Given the description of an element on the screen output the (x, y) to click on. 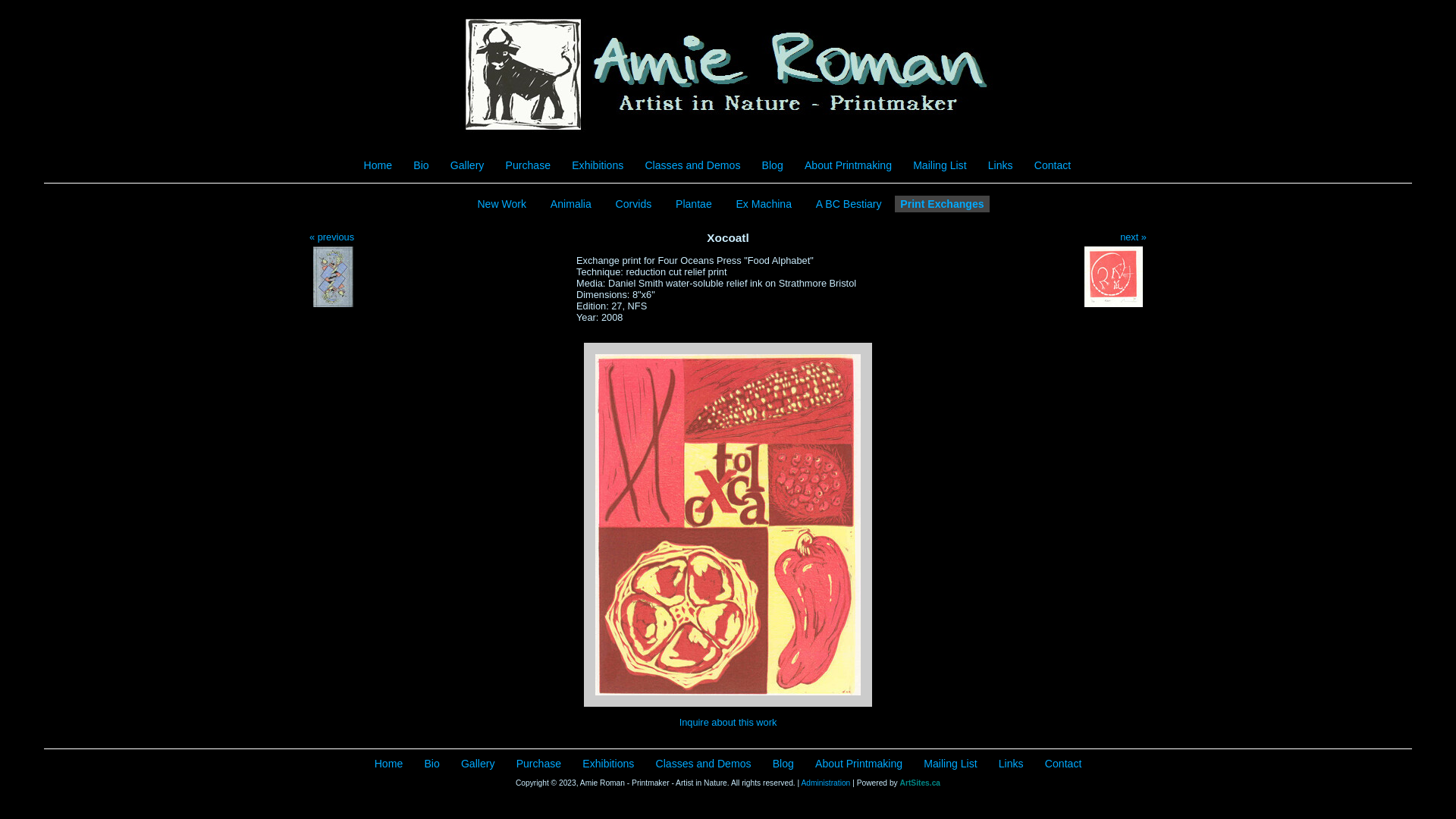
Print Exchanges Element type: text (941, 203)
Mailing List Element type: text (939, 165)
New Work Element type: text (501, 203)
About Printmaking Element type: text (847, 165)
Corvids Element type: text (633, 203)
Home Element type: text (388, 763)
Bio Element type: text (420, 165)
Gallery Element type: text (467, 165)
Contact Element type: text (1052, 165)
A BC Bestiary Element type: text (848, 203)
Mailing List Element type: text (949, 763)
Queen of... Element type: hover (333, 276)
Exhibitions Element type: text (597, 165)
Xocoatl Element type: hover (727, 524)
Blog Element type: text (782, 763)
Rat Element type: hover (1113, 276)
Ex Machina Element type: text (763, 203)
Home Element type: text (378, 165)
About Printmaking Element type: text (858, 763)
Links Element type: text (1000, 165)
Amie Roman - Printmaker - Artist in Nature Element type: hover (727, 74)
Links Element type: text (1010, 763)
ArtSites.ca Element type: text (920, 782)
Plantae Element type: text (693, 203)
Blog Element type: text (772, 165)
Inquire about this work Element type: text (728, 722)
Contact Element type: text (1063, 763)
Bio Element type: text (431, 763)
Gallery Element type: text (478, 763)
Purchase Element type: text (527, 165)
Purchase Element type: text (538, 763)
Animalia Element type: text (570, 203)
Administration Element type: text (825, 782)
Classes and Demos Element type: text (692, 165)
Classes and Demos Element type: text (703, 763)
Exhibitions Element type: text (607, 763)
